Given the description of an element on the screen output the (x, y) to click on. 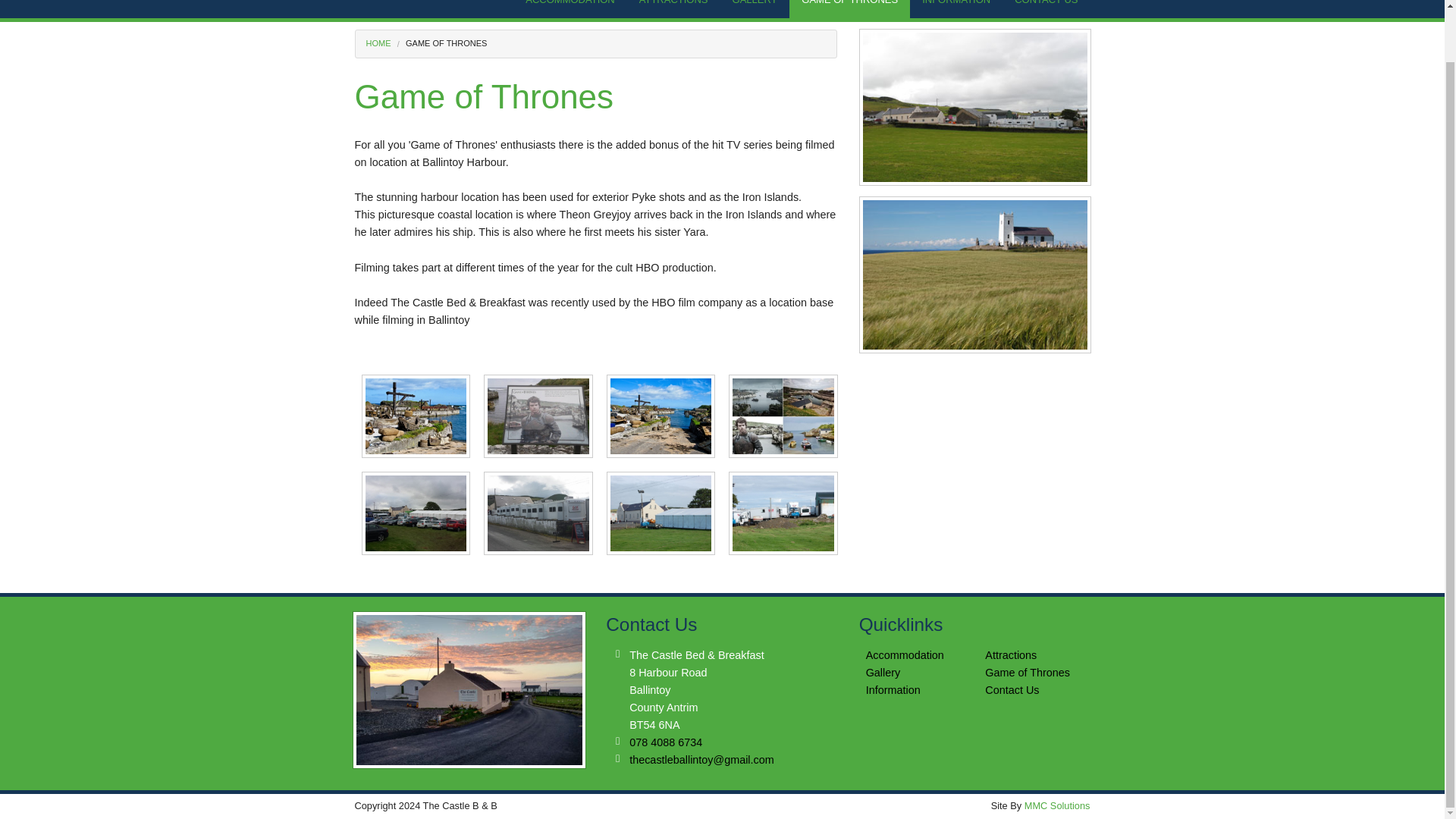
CONTACT US (1046, 9)
ATTRACTIONS (673, 9)
GALLERY (755, 9)
Game of Thrones (1027, 672)
INFORMATION (956, 9)
Information (893, 689)
Accommodation (904, 654)
078 4088 6734 (664, 742)
GAME OF THRONES (849, 9)
Attractions (1010, 654)
MMC Solutions (1057, 805)
HOME (377, 42)
Contact Us (1012, 689)
Gallery (883, 672)
ACCOMMODATION (569, 9)
